Given the description of an element on the screen output the (x, y) to click on. 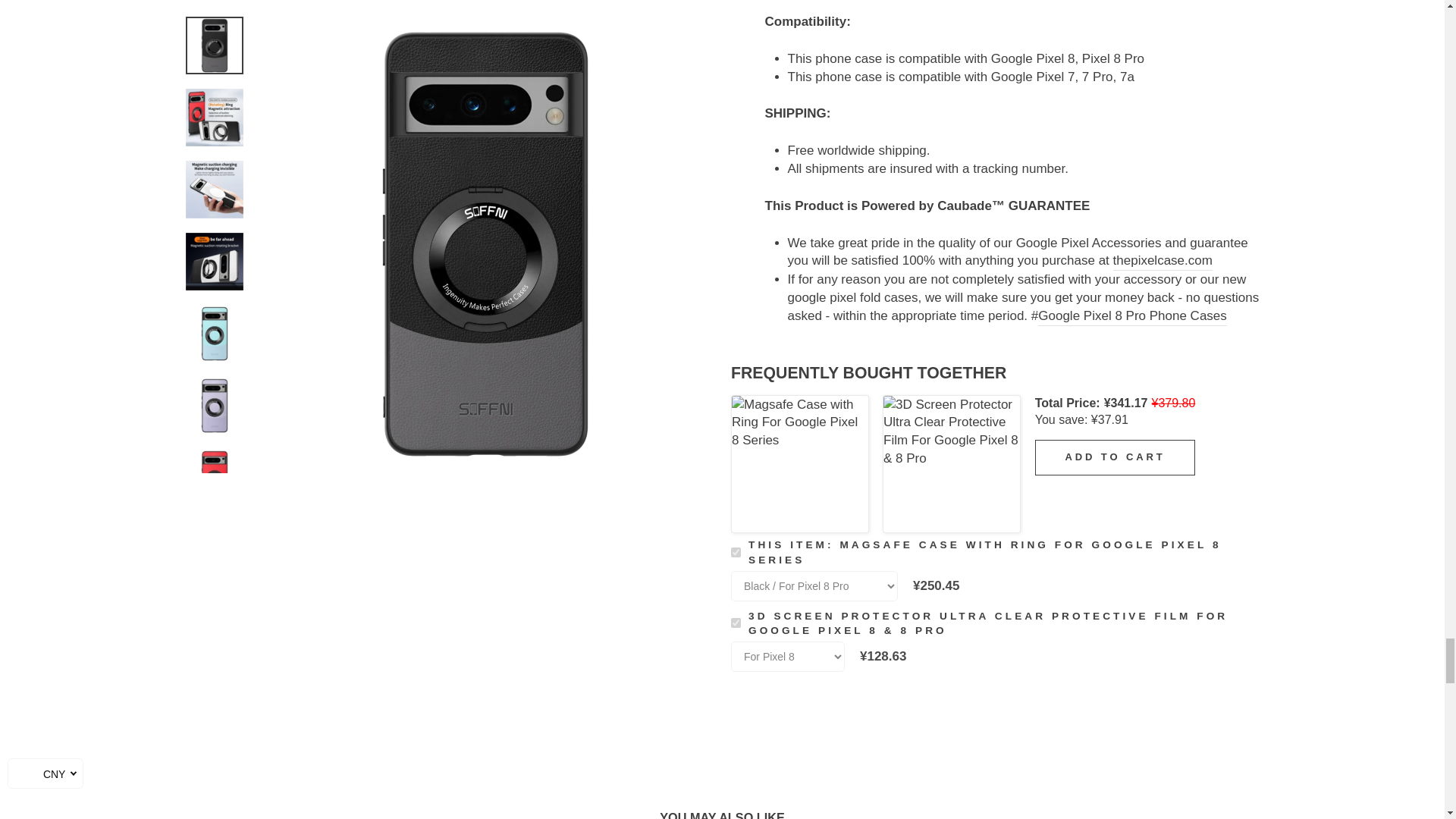
Magsafe Case with Ring For Google Pixel 8 Series (799, 462)
Google Pixel Fold Cases (1162, 261)
Google Pixel 8 Pro Phone Cases (1132, 316)
